Given the description of an element on the screen output the (x, y) to click on. 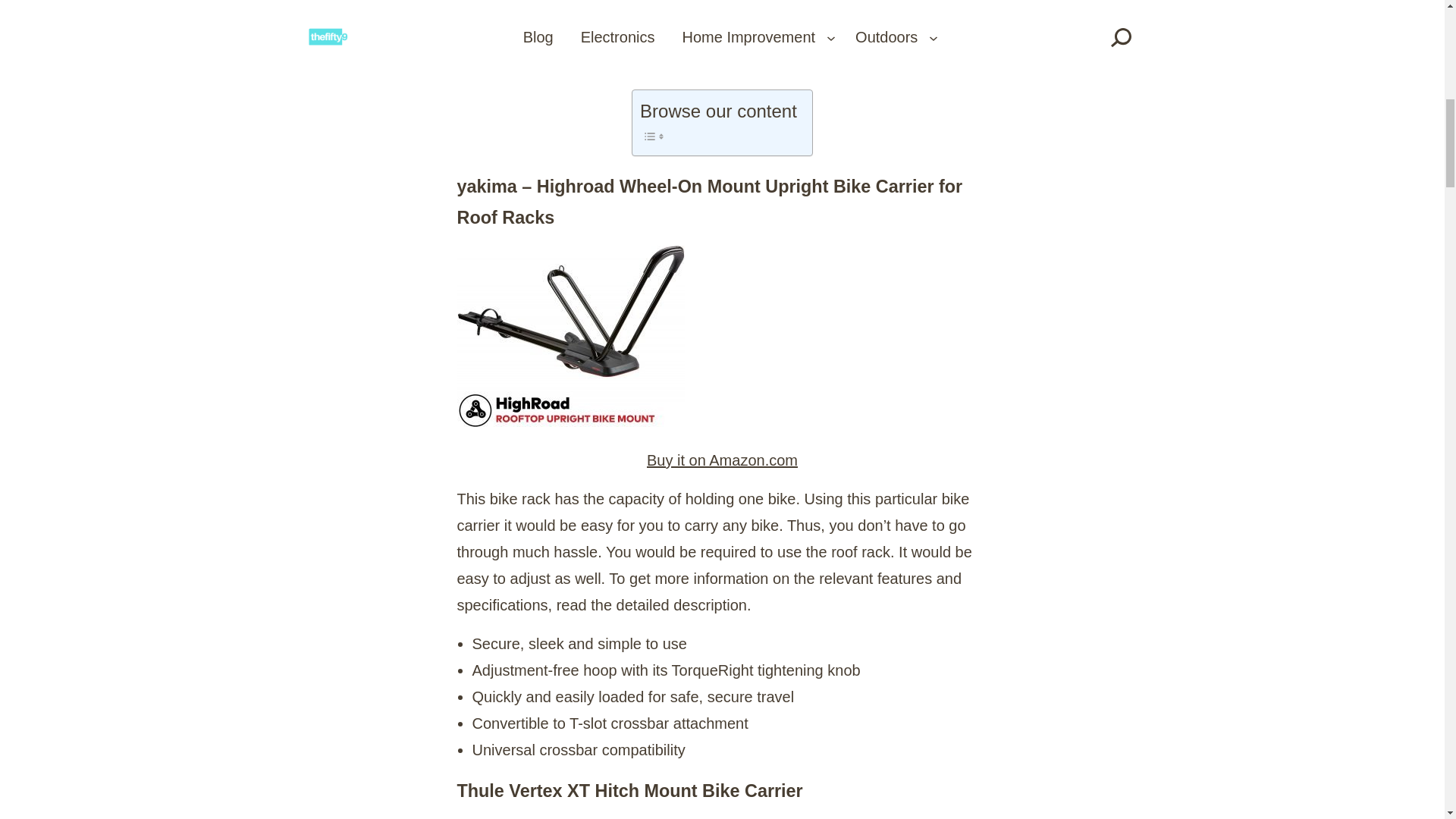
Buy it on Amazon.com (721, 460)
